Given the description of an element on the screen output the (x, y) to click on. 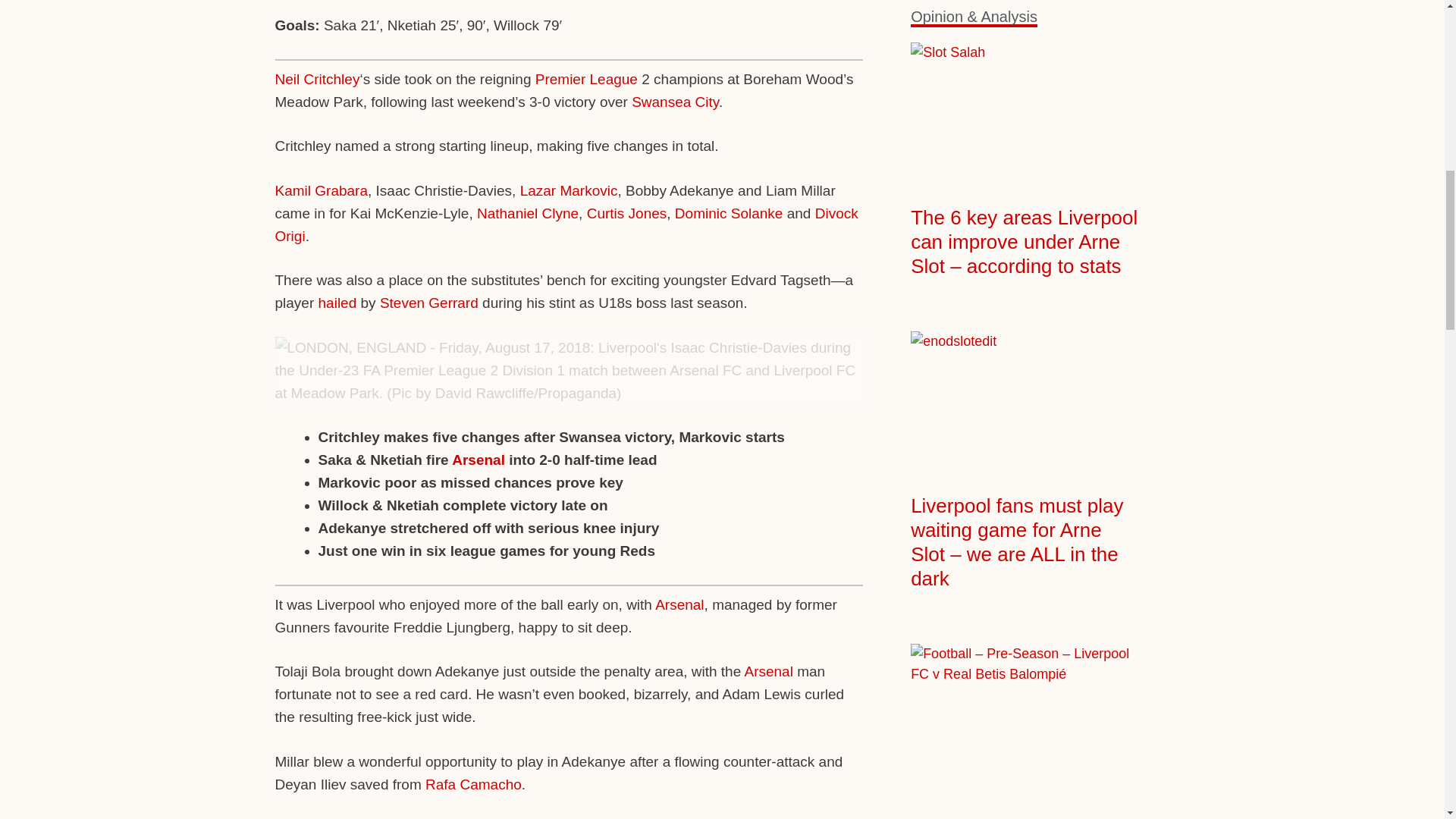
Neil Critchley (317, 78)
